Given the description of an element on the screen output the (x, y) to click on. 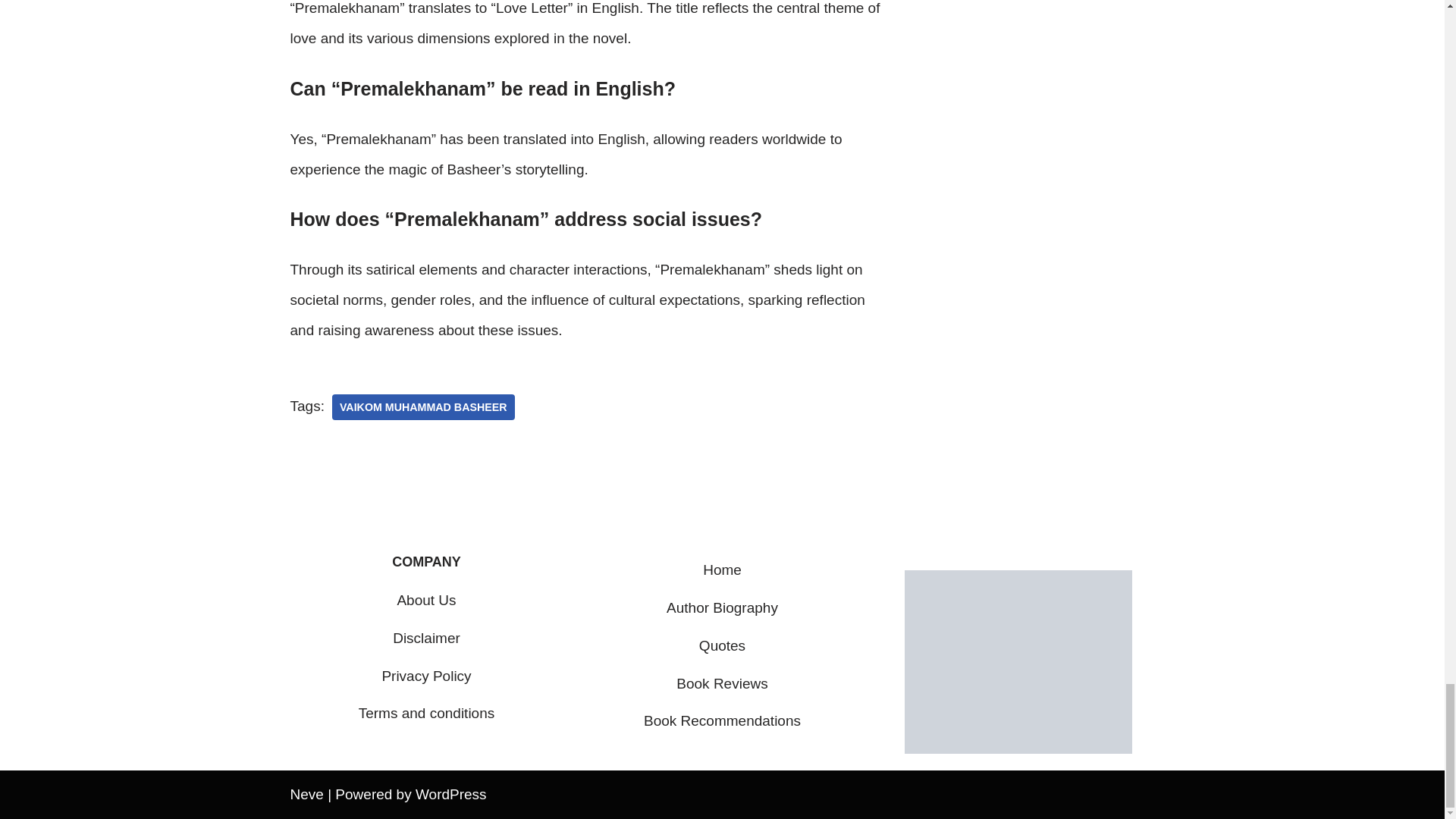
VAIKOM MUHAMMAD BASHEER (423, 406)
Vaikom Muhammad Basheer (423, 406)
